Given the description of an element on the screen output the (x, y) to click on. 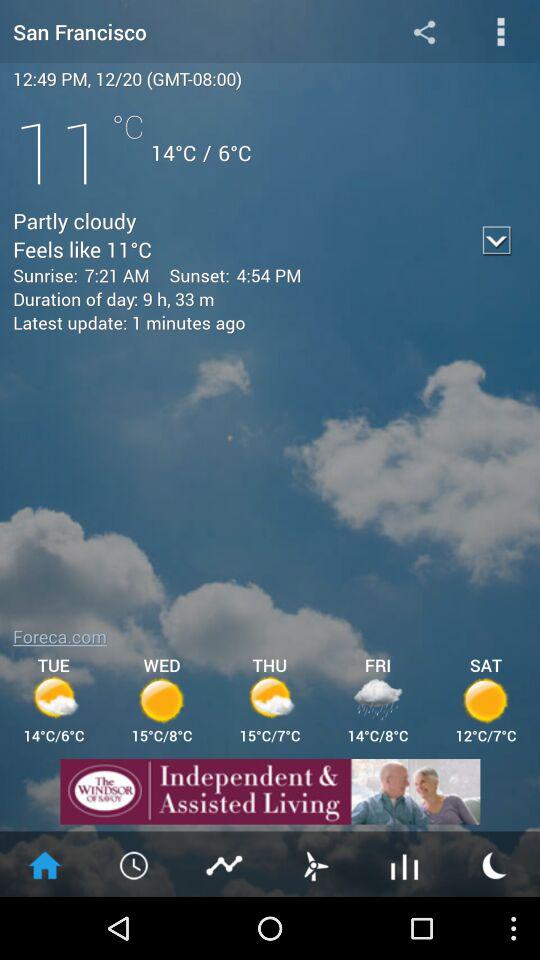
select the chart (225, 864)
